Given the description of an element on the screen output the (x, y) to click on. 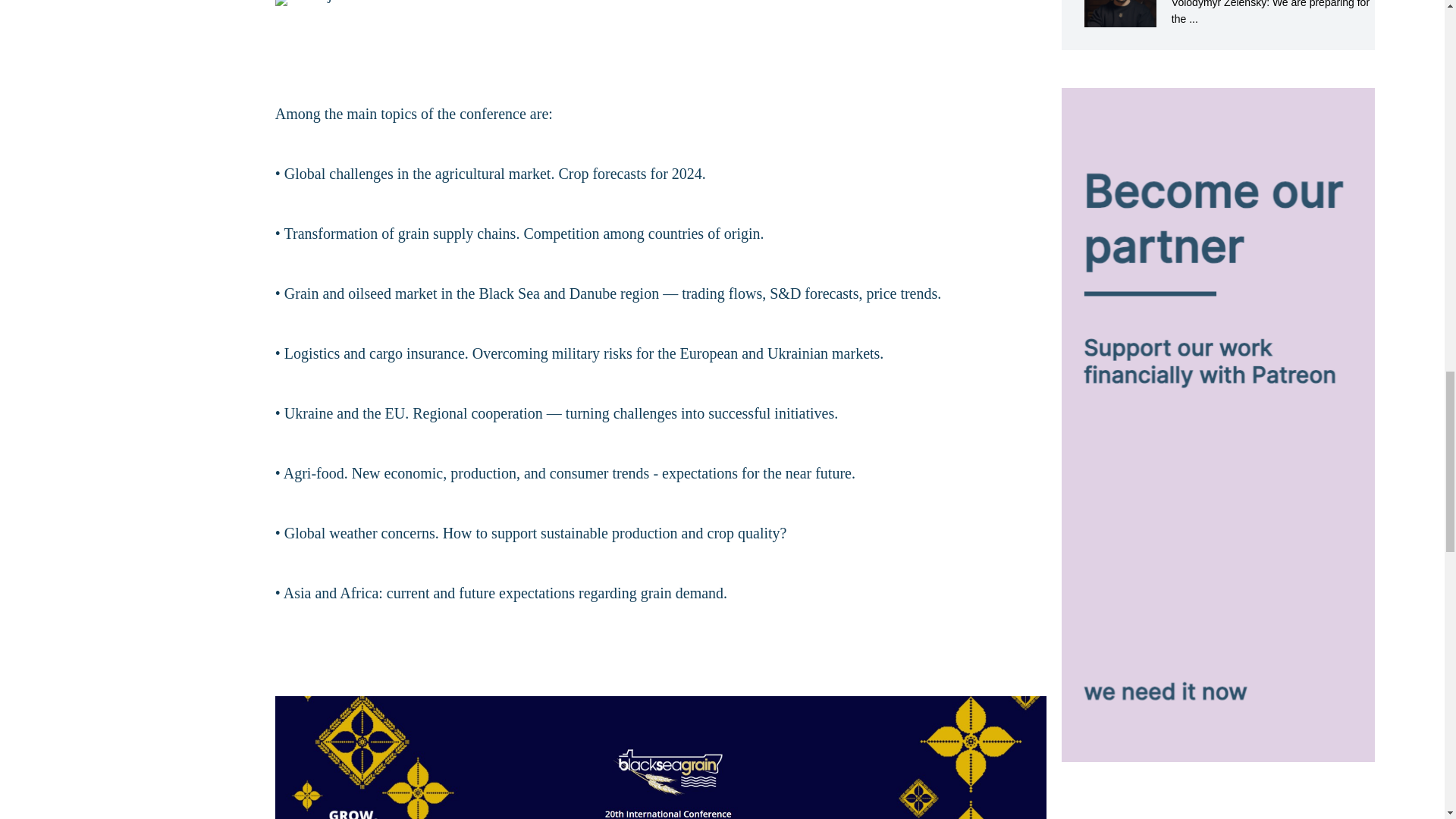
Read (1218, 13)
